Given the description of an element on the screen output the (x, y) to click on. 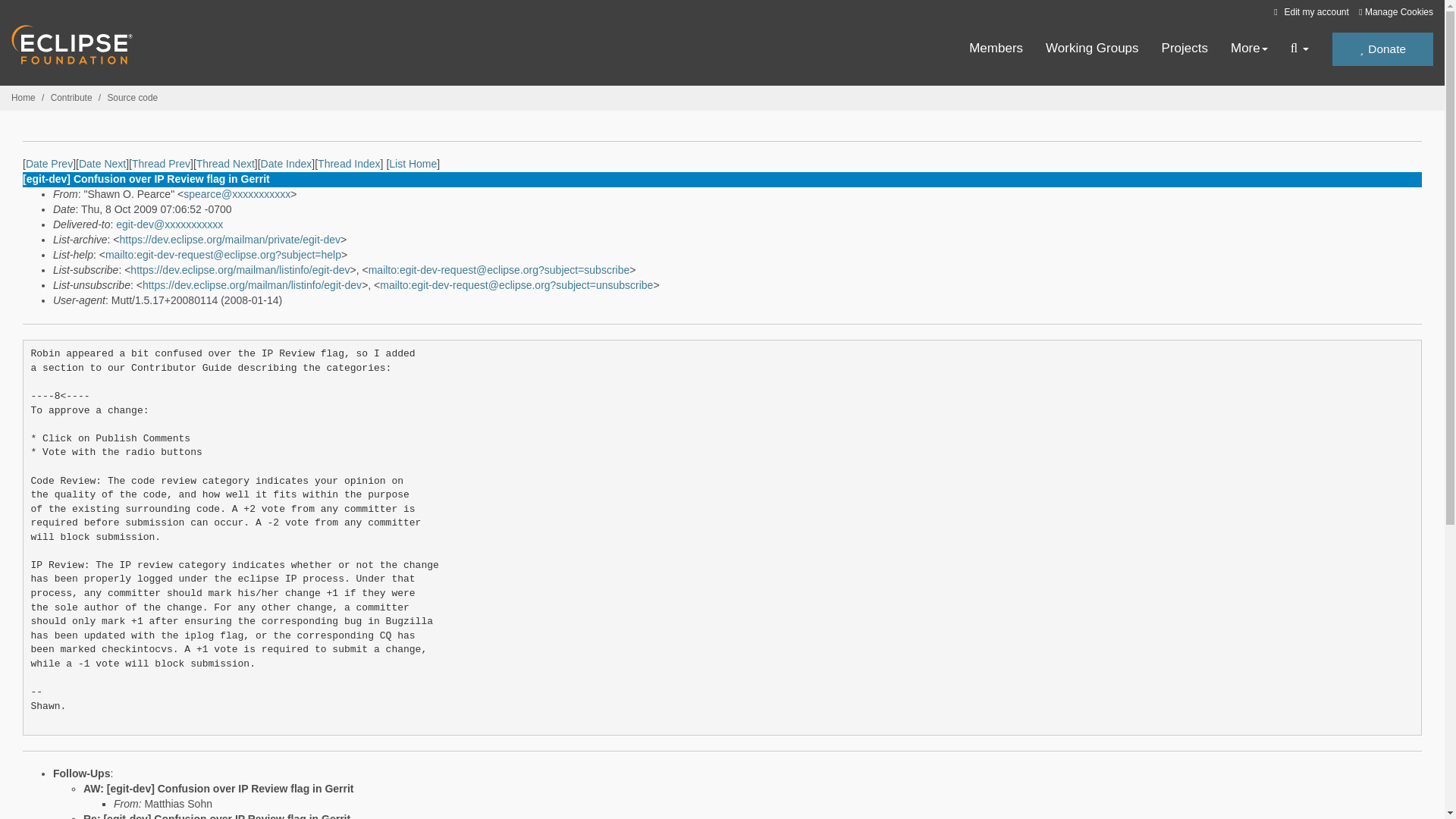
Manage Cookies (1395, 12)
Edit my account (1309, 11)
Working Groups (1091, 48)
More (1249, 48)
Donate (1382, 49)
Members (996, 48)
Projects (1184, 48)
